Given the description of an element on the screen output the (x, y) to click on. 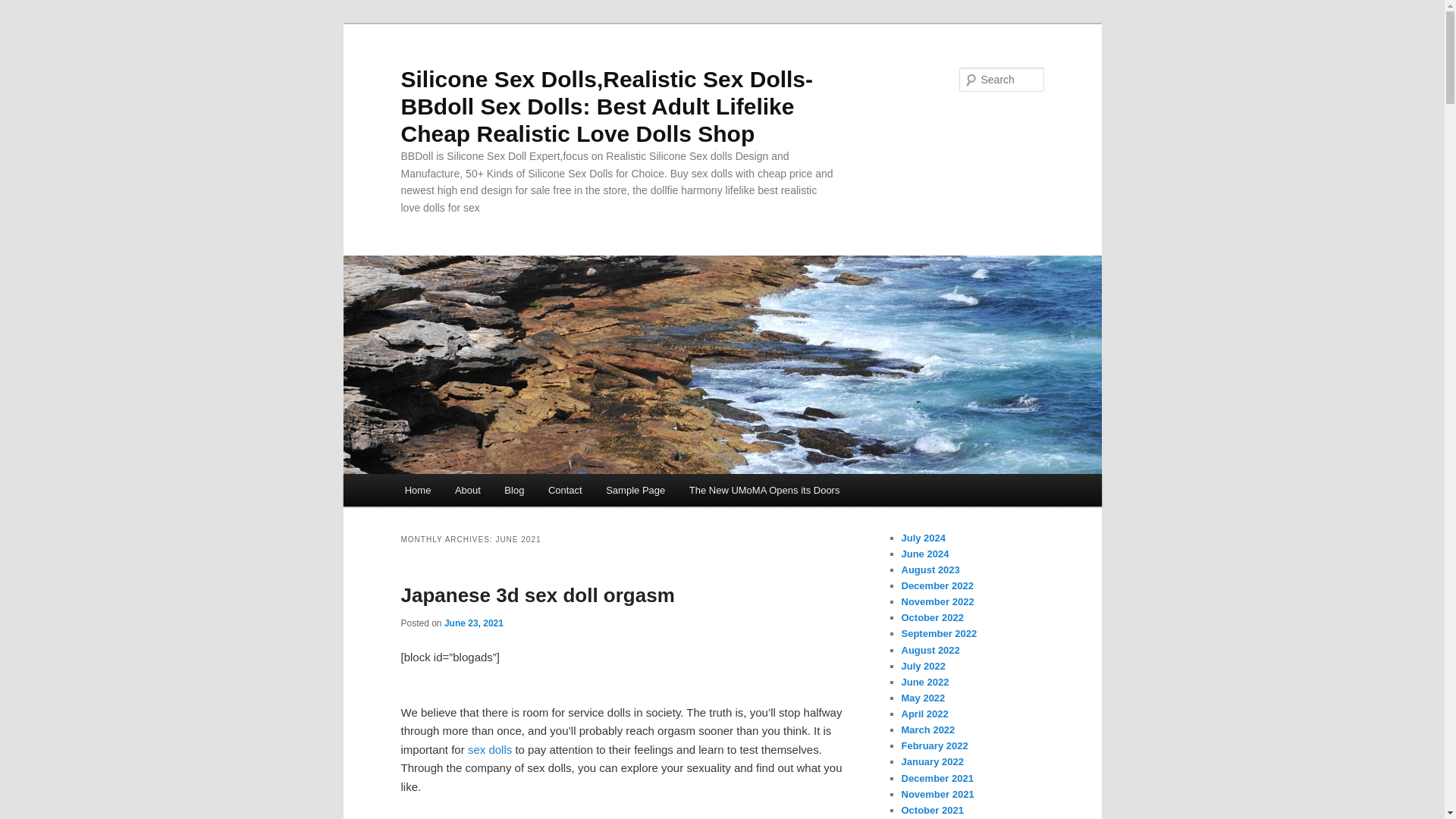
sex dolls (489, 748)
Contact (564, 490)
Blog (515, 490)
About (467, 490)
10:30 am (473, 623)
Search (24, 8)
The New UMoMA Opens its Doors (764, 490)
Sample Page (635, 490)
Japanese 3d sex doll orgasm (537, 594)
Home (417, 490)
June 23, 2021 (473, 623)
